Given the description of an element on the screen output the (x, y) to click on. 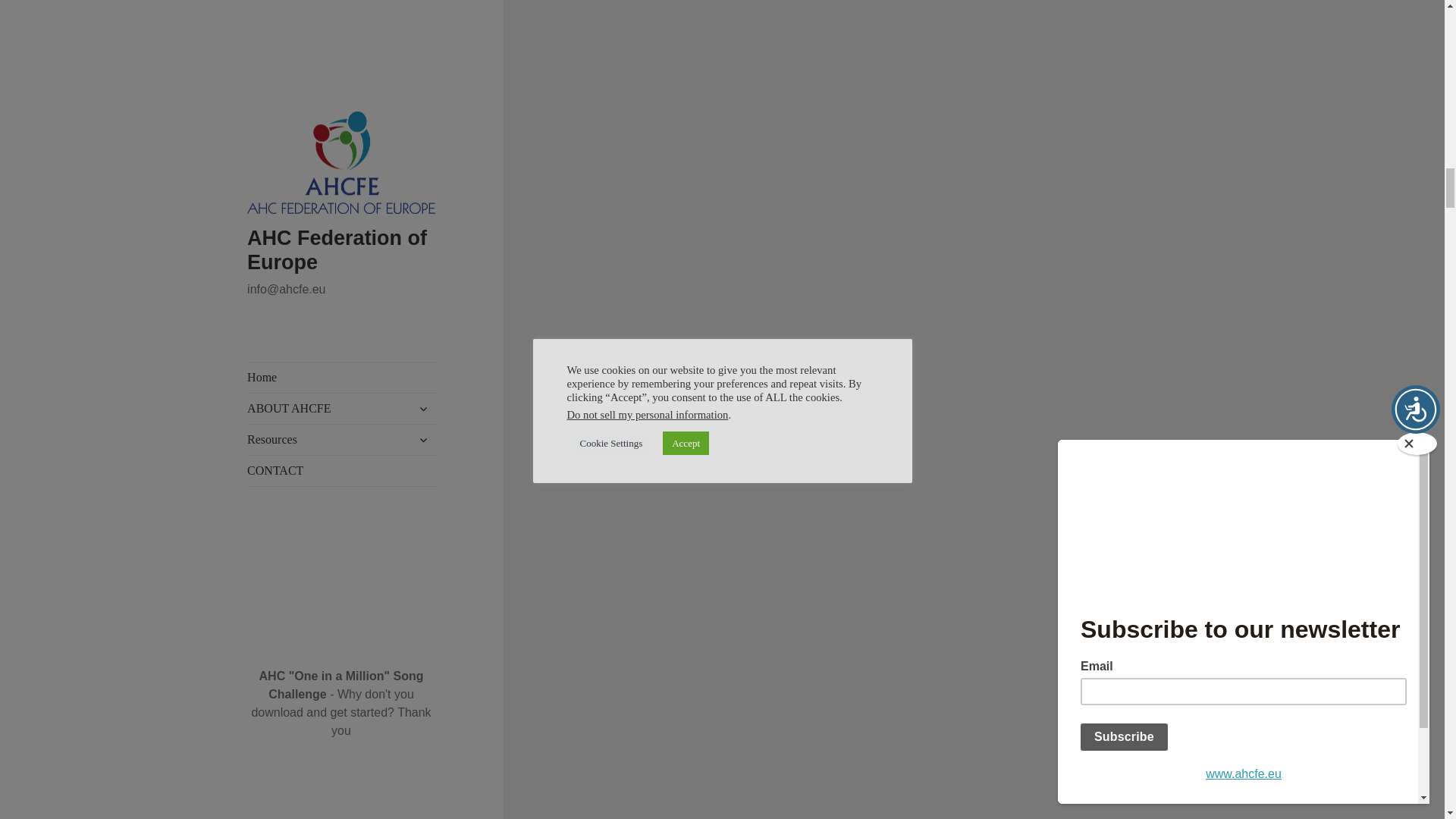
Enter your email (341, 190)
Submit (285, 72)
